Given the description of an element on the screen output the (x, y) to click on. 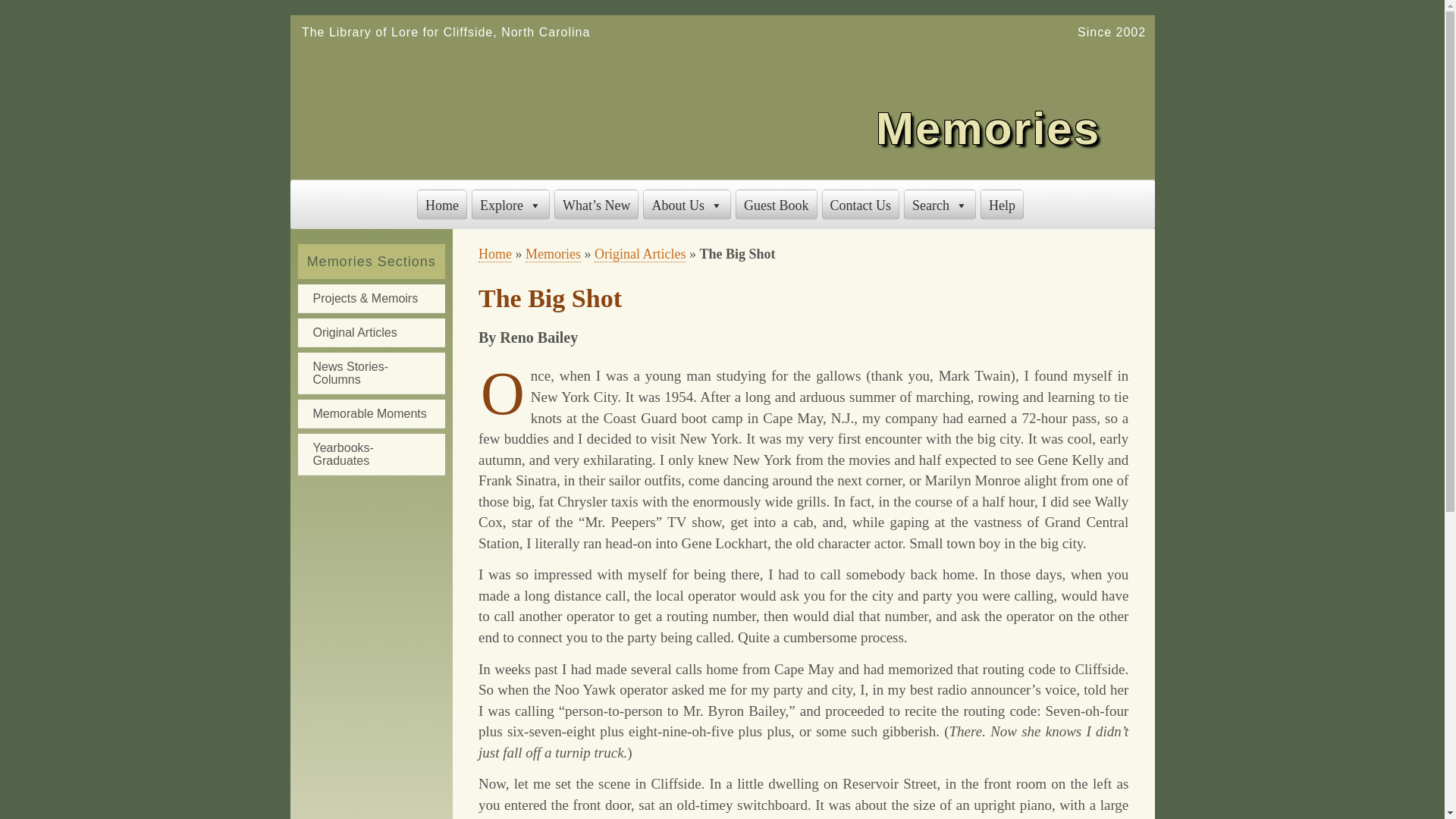
Search (48, 16)
Search (939, 204)
Skip to primary navigation (80, 17)
Original Articles (639, 254)
Memories (552, 254)
Home (441, 204)
About Us (686, 204)
Contact Us (860, 204)
News Stories-Columns (370, 372)
Memorable Moments (370, 413)
